Given the description of an element on the screen output the (x, y) to click on. 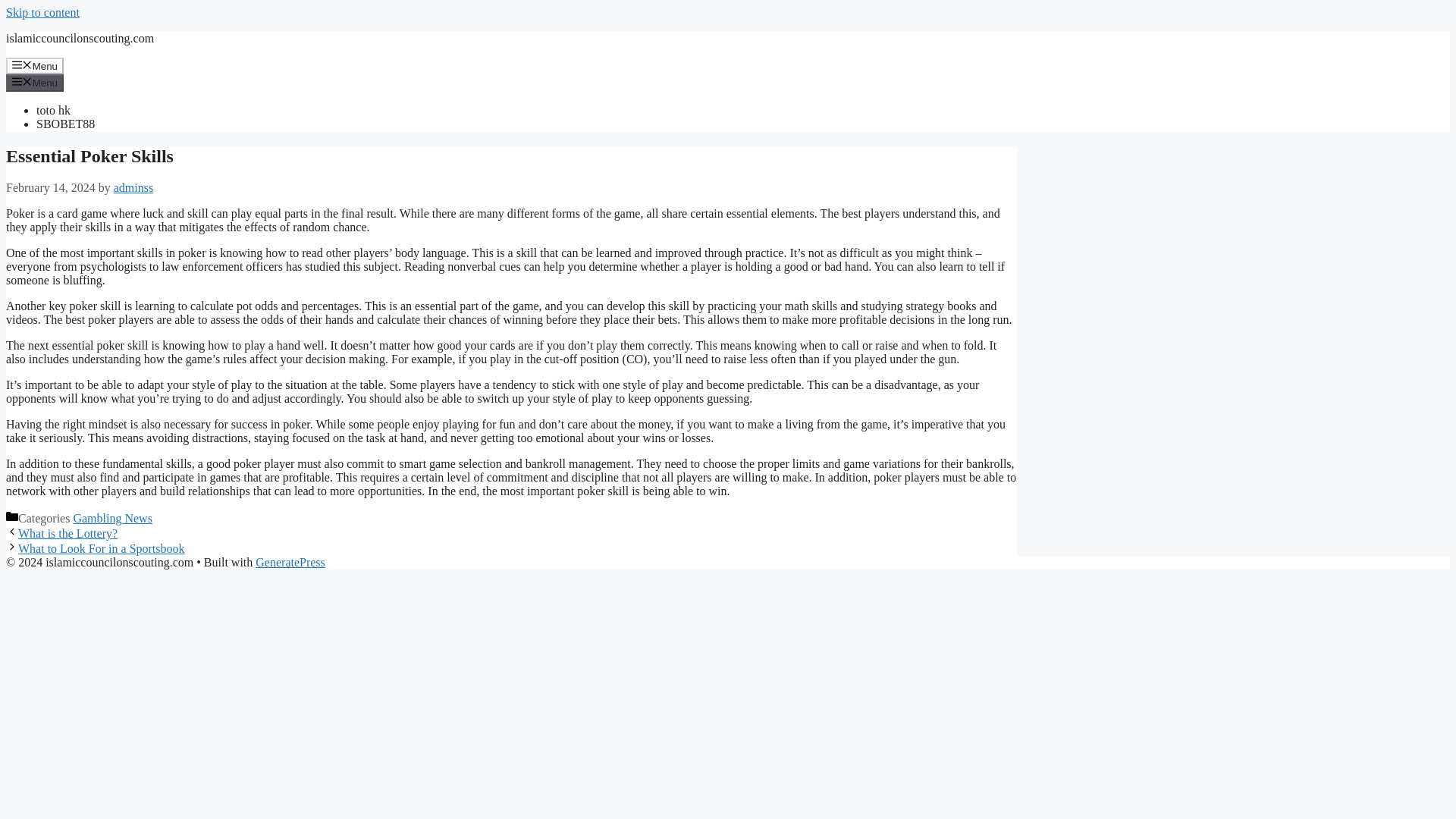
Skip to content (42, 11)
toto hk (52, 110)
What is the Lottery? (67, 533)
Menu (34, 65)
Gambling News (111, 517)
Menu (34, 82)
SBOBET88 (65, 123)
View all posts by adminss (132, 187)
Skip to content (42, 11)
islamiccouncilonscouting.com (79, 38)
What to Look For in a Sportsbook (100, 548)
adminss (132, 187)
